Given the description of an element on the screen output the (x, y) to click on. 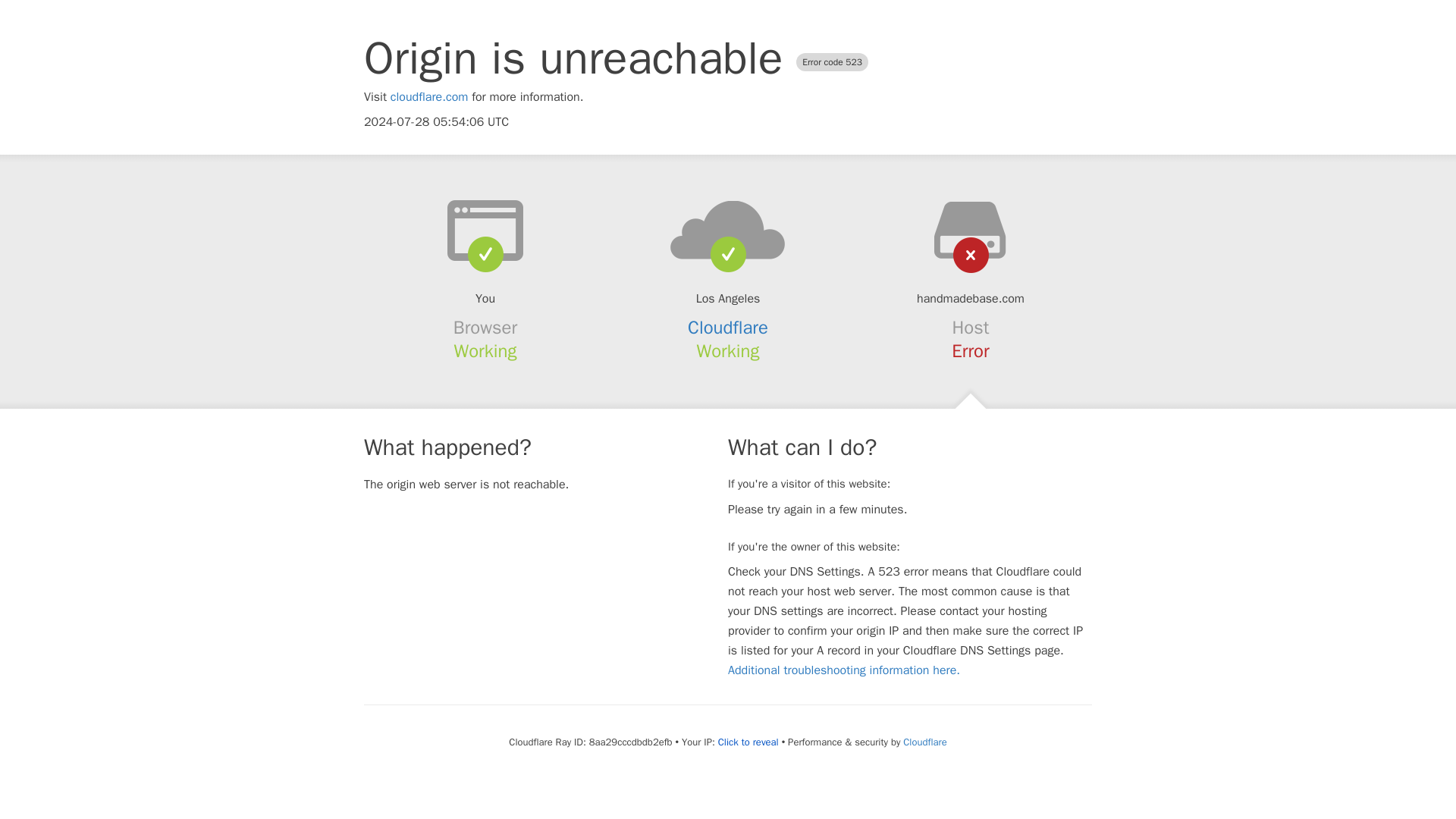
Cloudflare (727, 327)
Cloudflare (924, 741)
cloudflare.com (429, 96)
Click to reveal (747, 742)
Additional troubleshooting information here. (843, 670)
